Given the description of an element on the screen output the (x, y) to click on. 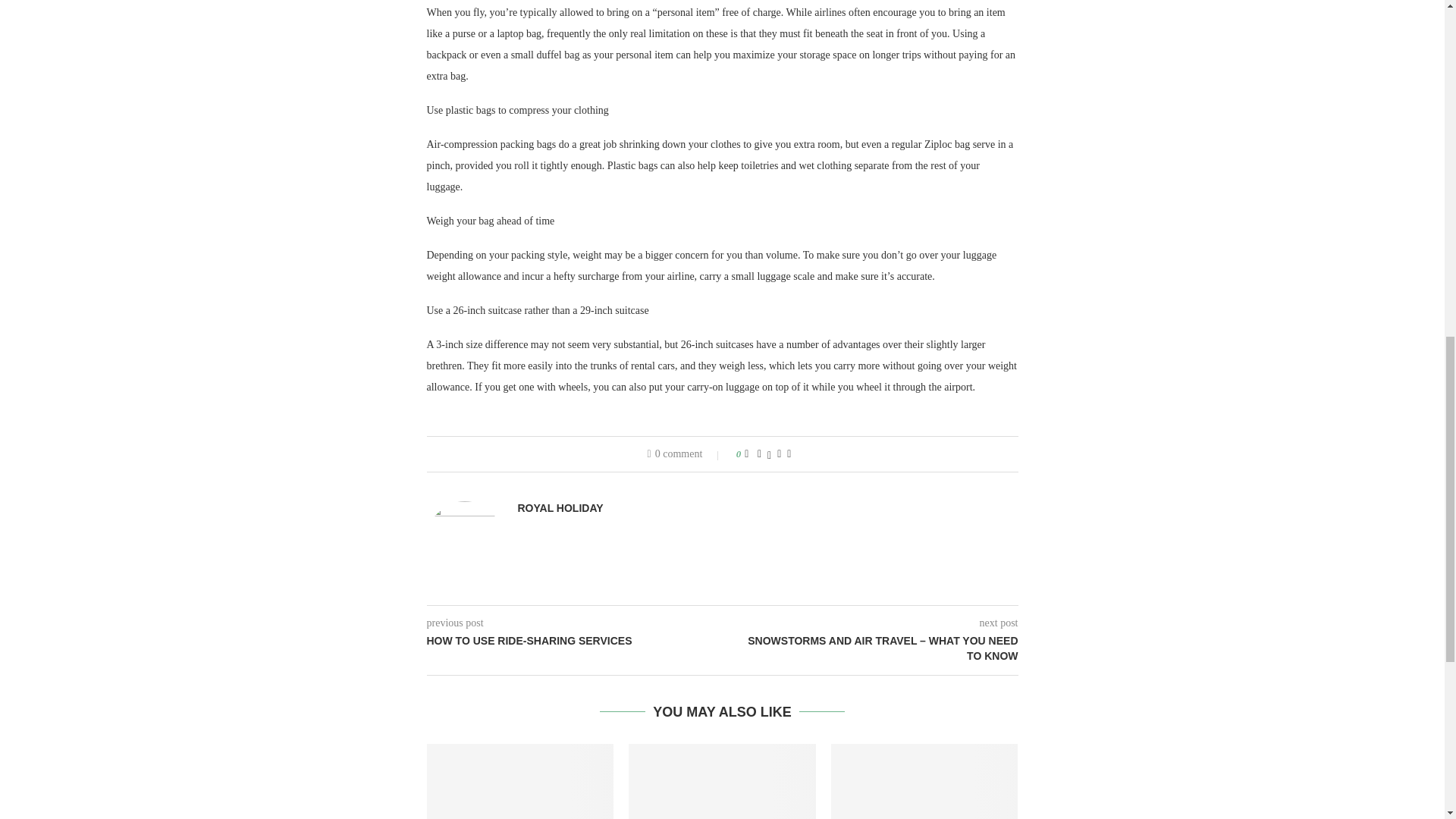
TIPS FOR ROYAL HOLIDAY CLUB MEMBERS (721, 781)
10 SECRETS OF TIMES SQUARE (924, 781)
Author Royal Holiday (559, 508)
ROYAL HOLIDAY (559, 508)
